Given the description of an element on the screen output the (x, y) to click on. 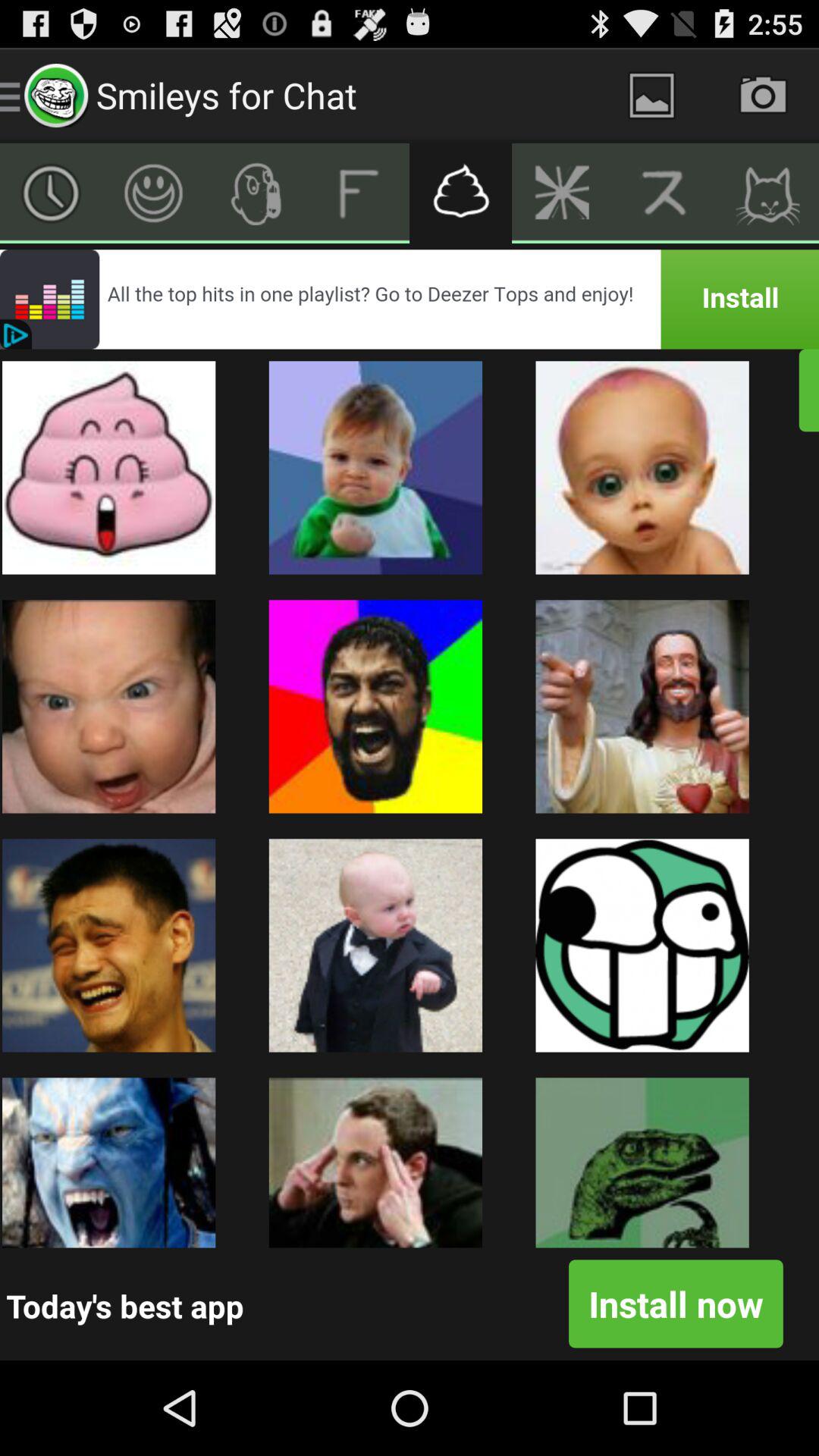
open your image gallery (651, 95)
